Given the description of an element on the screen output the (x, y) to click on. 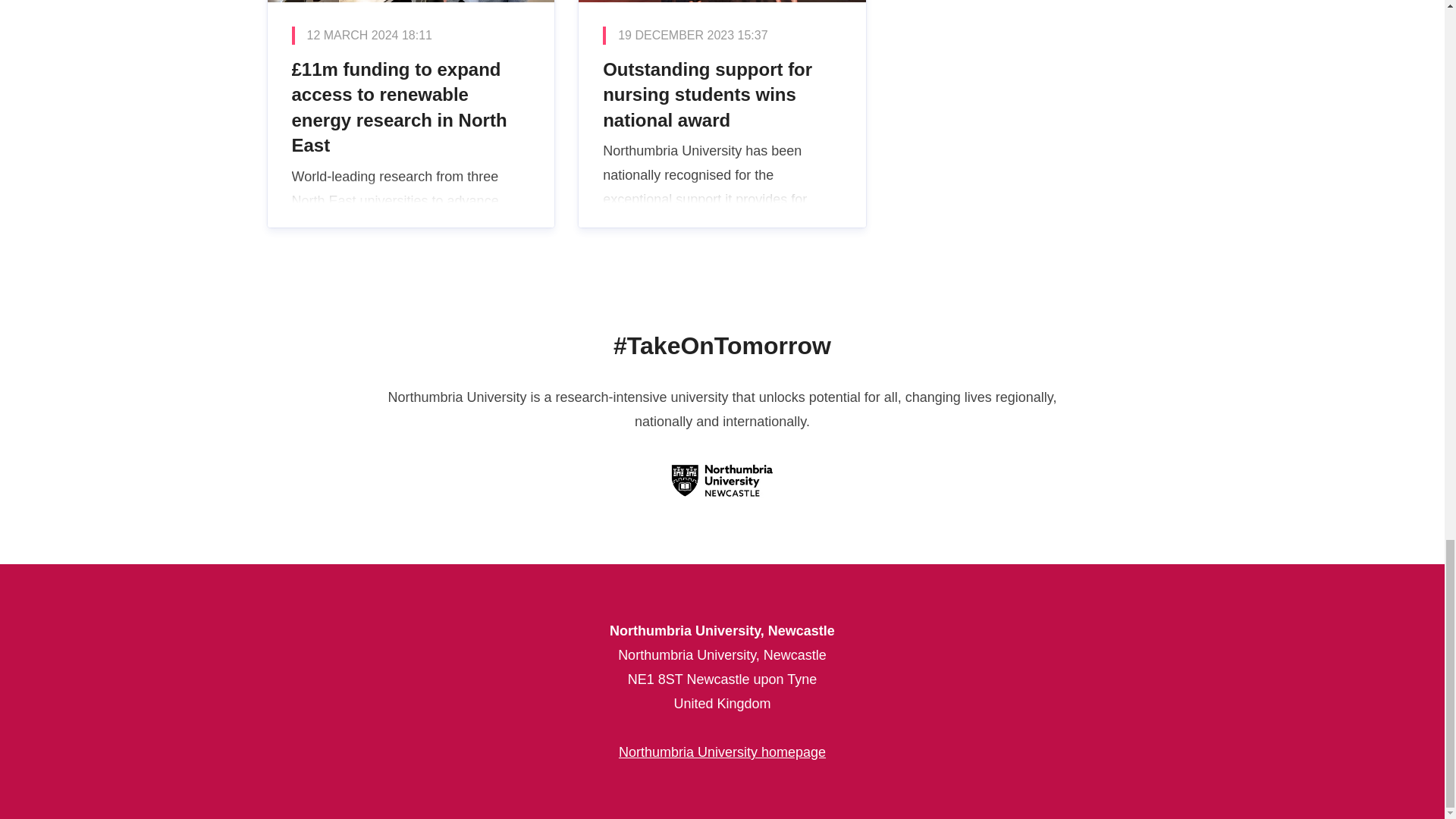
Outstanding support for nursing students wins national award (722, 113)
Northumbria University homepage (721, 752)
